Given the description of an element on the screen output the (x, y) to click on. 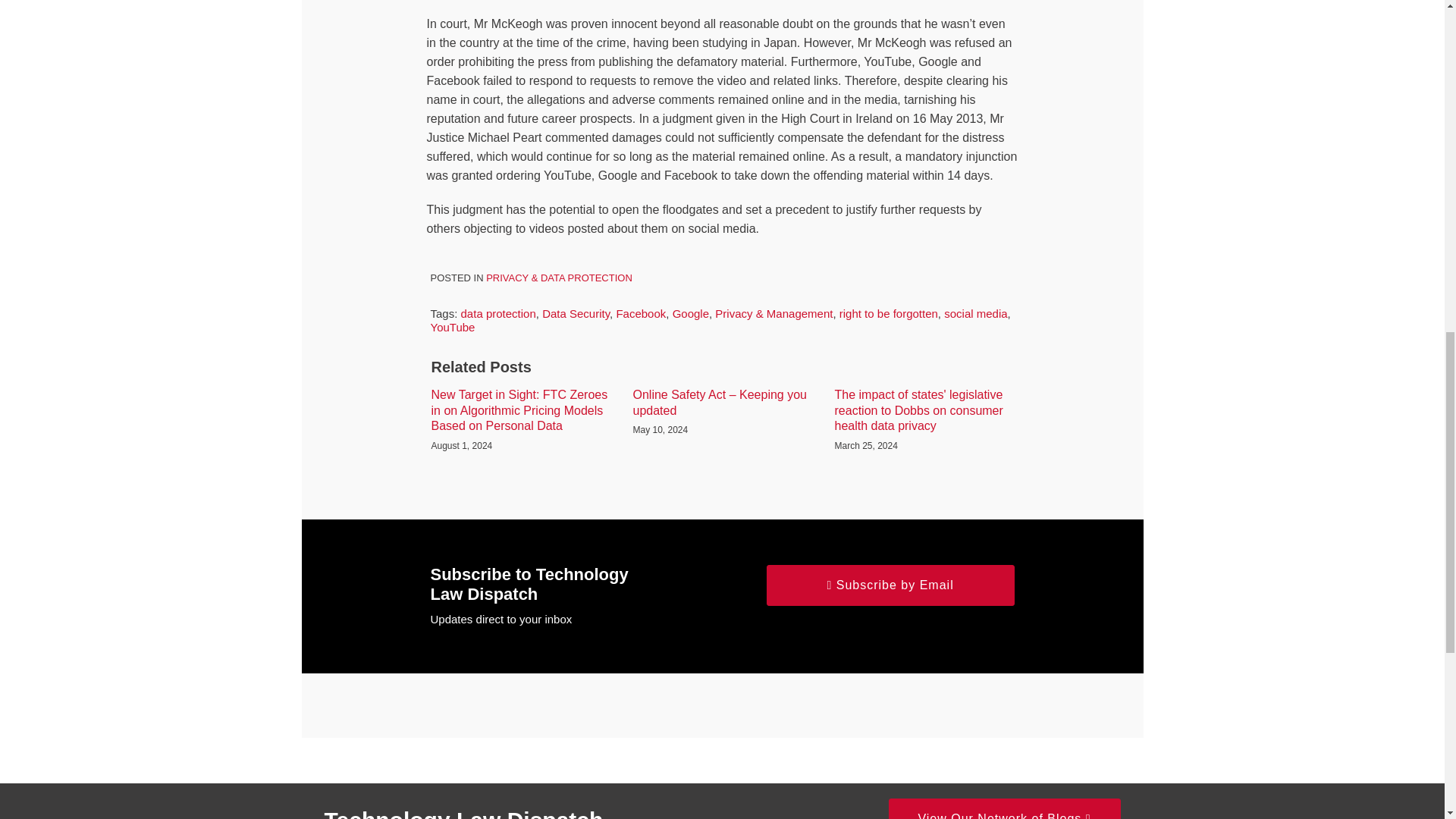
Google (690, 313)
right to be forgotten (888, 313)
Subscribe by Email (890, 585)
data protection (498, 313)
Data Security (575, 313)
YouTube (453, 327)
Technology Law Dispatch (464, 812)
Facebook (640, 313)
social media (975, 313)
View Our Network of Blogs (1004, 808)
